Given the description of an element on the screen output the (x, y) to click on. 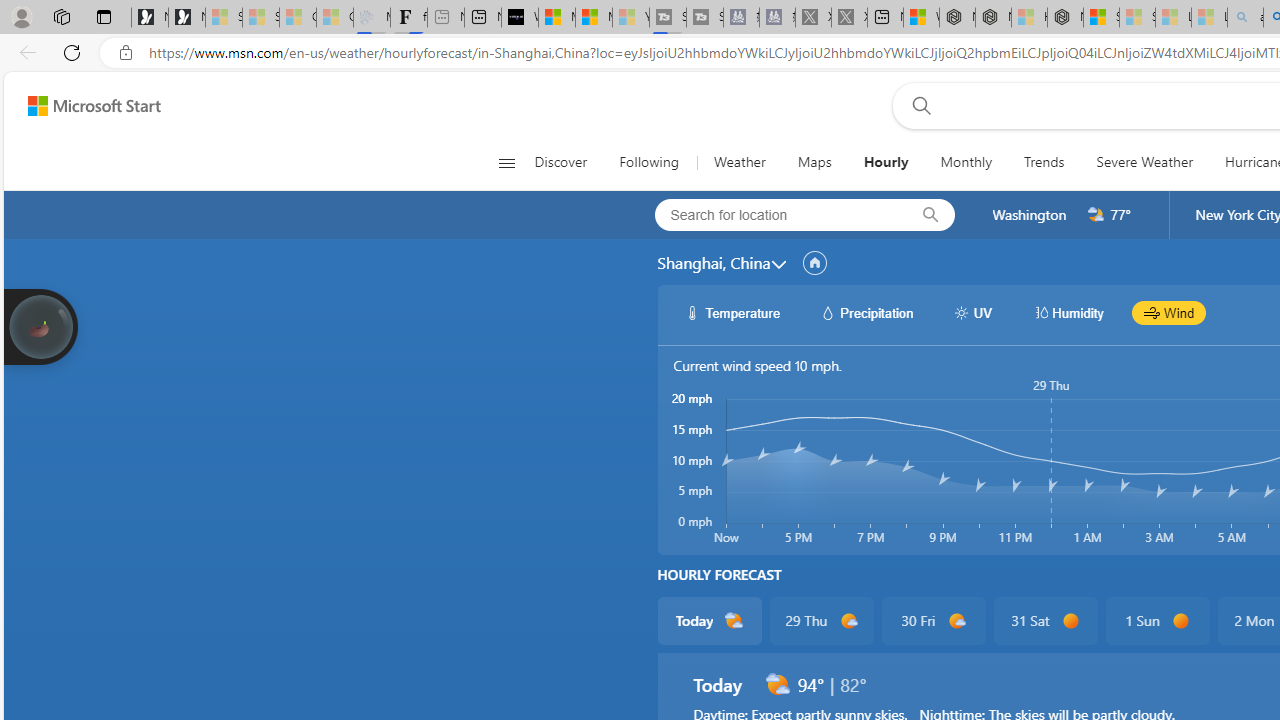
Severe Weather (1144, 162)
Nordace - Nordace Siena Is Not An Ordinary Backpack (1065, 17)
Newsletter Sign Up (186, 17)
Weather (739, 162)
hourlyChart/uvWhite UV (972, 312)
30 Fri d1000 (932, 620)
Web search (917, 105)
hourlyChart/temperatureWhite (692, 312)
hourlyChart/windBlack Wind (1169, 312)
Maps (813, 162)
d2000 (777, 684)
